Given the description of an element on the screen output the (x, y) to click on. 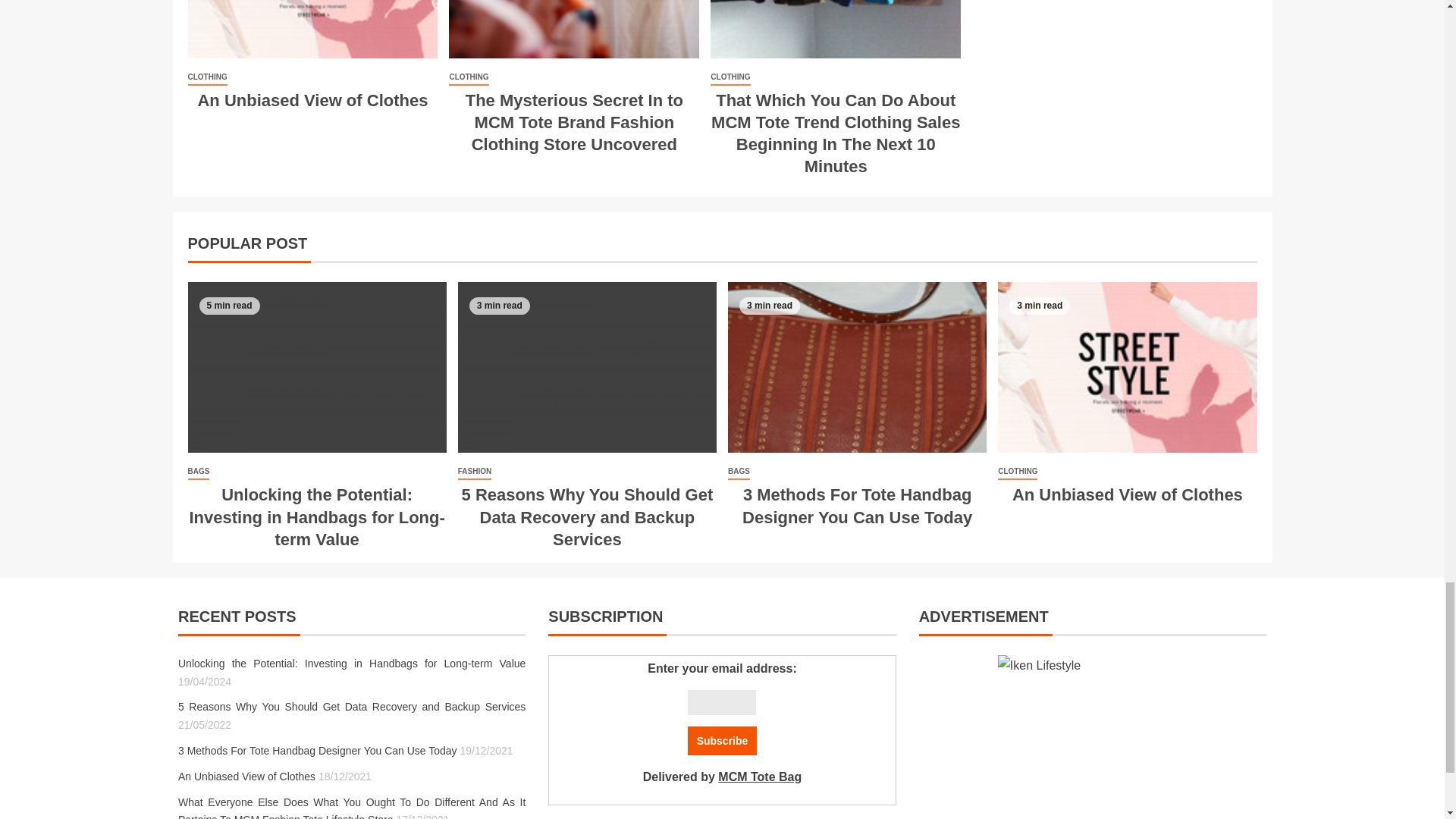
CLOTHING (207, 77)
An Unbiased View of Clothes (312, 29)
Subscribe (722, 740)
An Unbiased View of Clothes (312, 99)
